Given the description of an element on the screen output the (x, y) to click on. 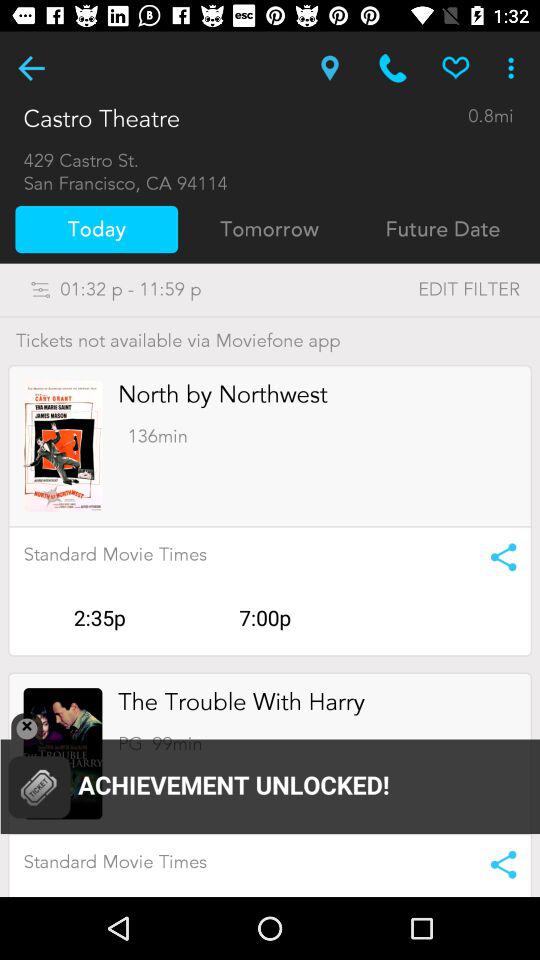
open the advertisements (62, 753)
